Given the description of an element on the screen output the (x, y) to click on. 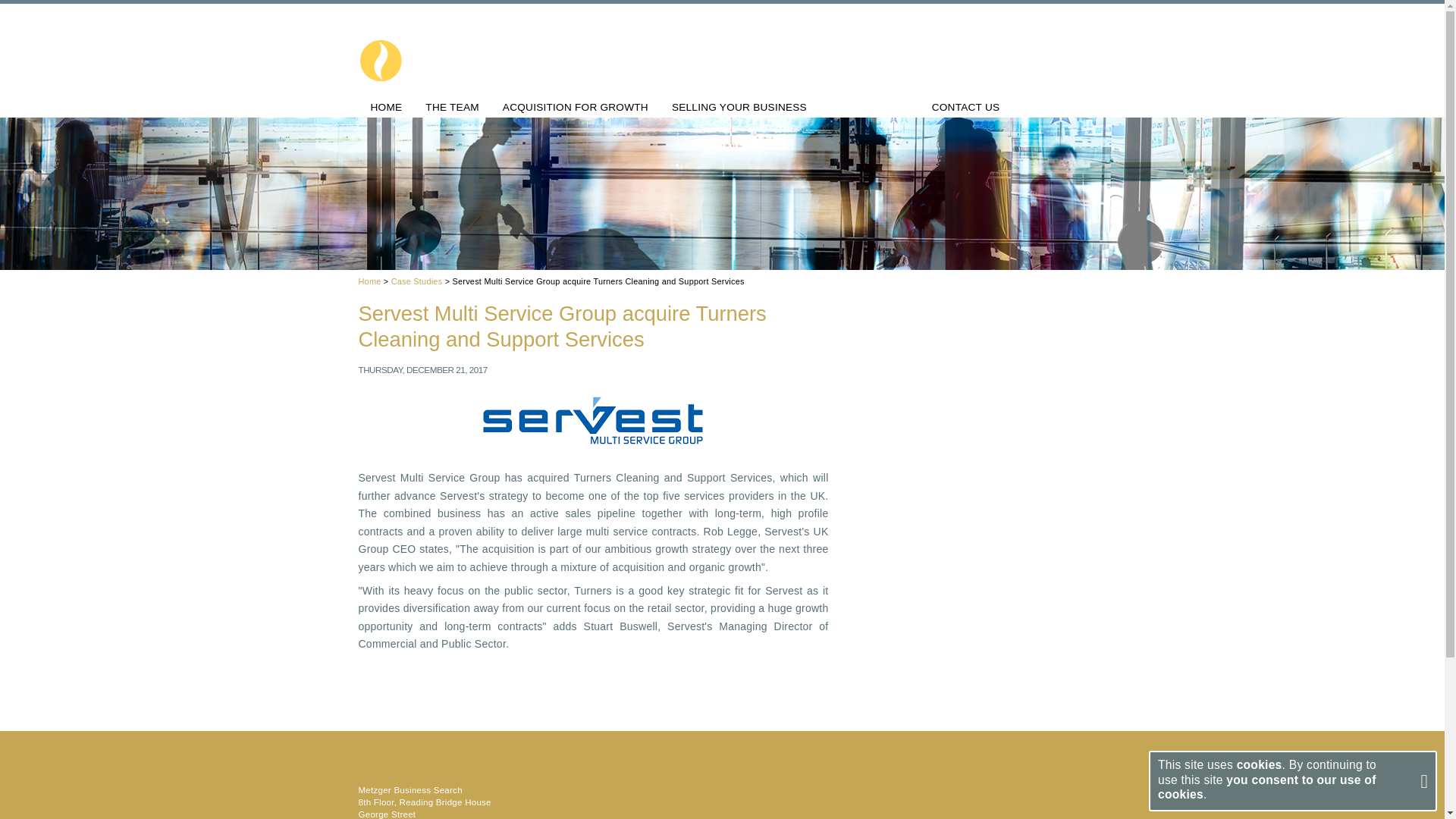
CONTACT US (965, 107)
THE TEAM (452, 107)
Case Studies (416, 280)
SELLING YOUR BUSINESS (738, 107)
HOME (387, 107)
ACQUISITION FOR GROWTH (574, 107)
Home (369, 280)
CASE STUDIES (868, 107)
